Given the description of an element on the screen output the (x, y) to click on. 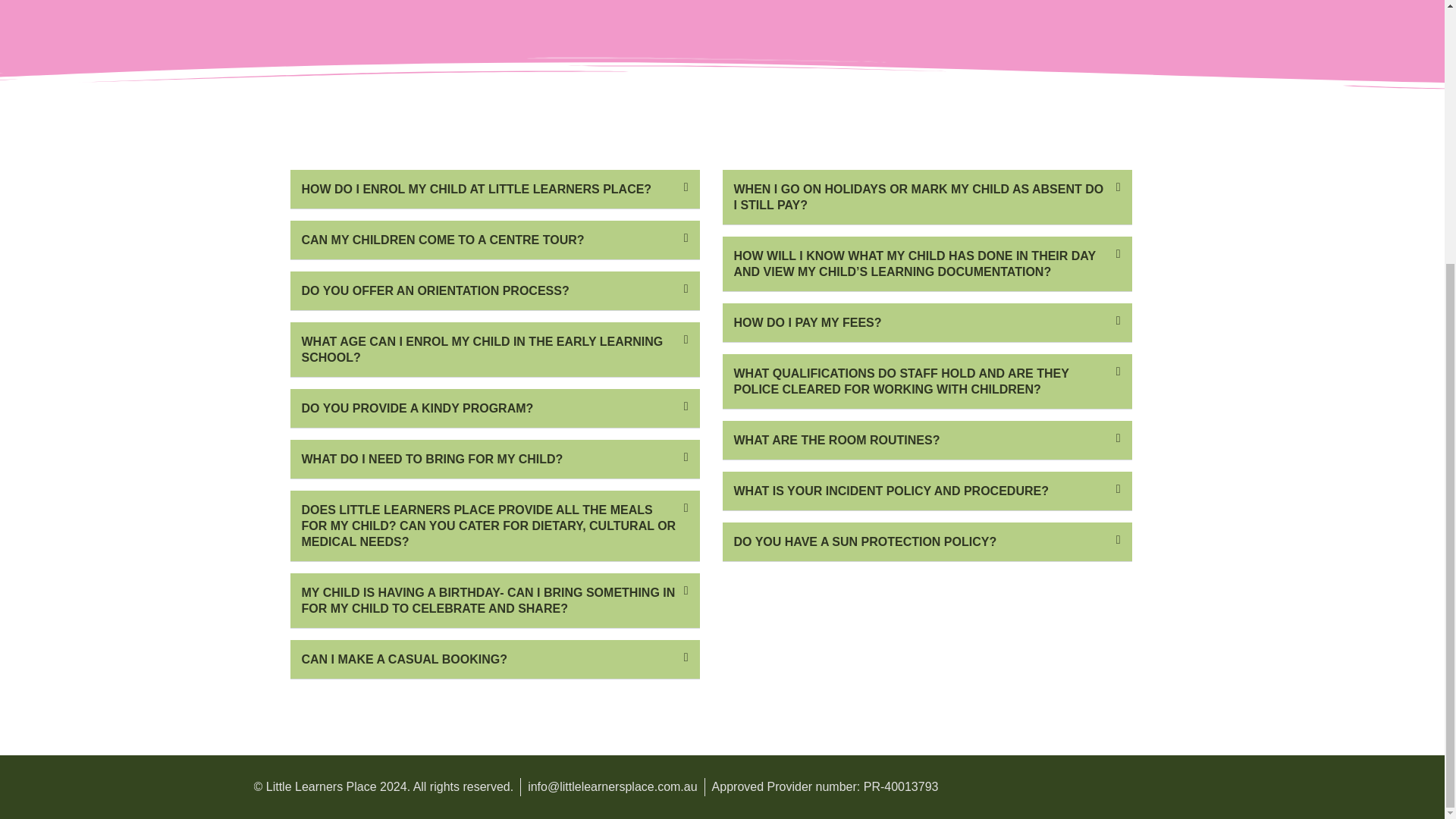
DO YOU OFFER AN ORIENTATION PROCESS? (435, 289)
HOW DO I ENROL MY CHILD AT LITTLE LEARNERS PLACE? (476, 187)
CAN MY CHILDREN COME TO A CENTRE TOUR? (443, 239)
WHAT DO I NEED TO BRING FOR MY CHILD? (432, 458)
DO YOU PROVIDE A KINDY PROGRAM? (417, 408)
WHAT AGE CAN I ENROL MY CHILD IN THE EARLY LEARNING SCHOOL? (482, 348)
